Given the description of an element on the screen output the (x, y) to click on. 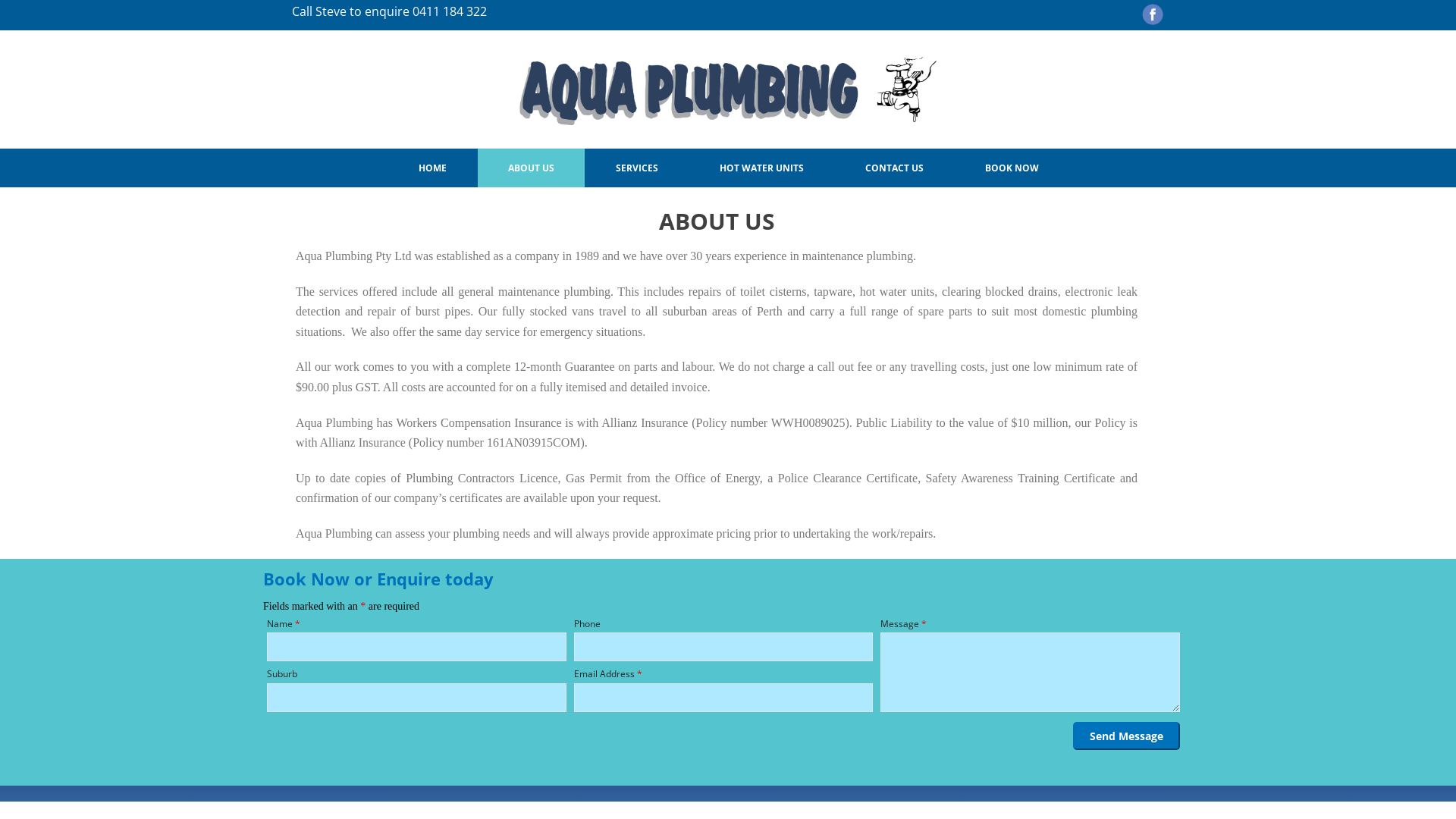
HOME Element type: text (432, 167)
CONTACT US Element type: text (893, 167)
Aqua Plumbing Element type: hover (727, 90)
ABOUT US Element type: text (530, 167)
SERVICES Element type: text (636, 167)
HOT WATER UNITS Element type: text (760, 167)
0411 184 322 Element type: text (449, 11)
BOOK NOW Element type: text (1010, 167)
